Given the description of an element on the screen output the (x, y) to click on. 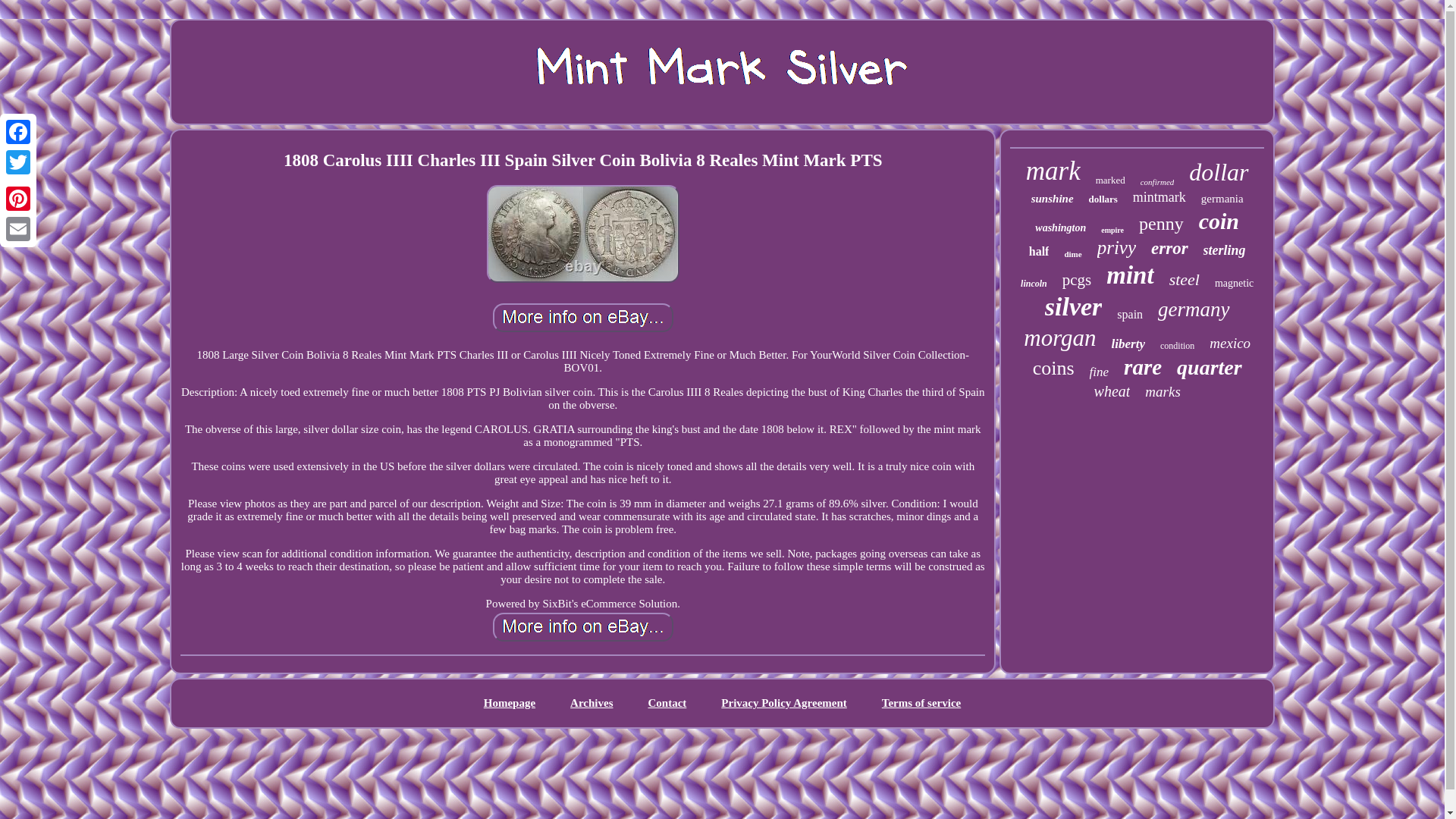
sunshine (1052, 198)
pcgs (1077, 280)
condition (1176, 346)
germania (1222, 198)
mintmark (1159, 197)
sterling (1225, 250)
lincoln (1033, 283)
error (1169, 248)
mark (1053, 171)
Twitter (17, 162)
magnetic (1233, 283)
liberty (1128, 344)
Facebook (17, 132)
steel (1184, 279)
